Given the description of an element on the screen output the (x, y) to click on. 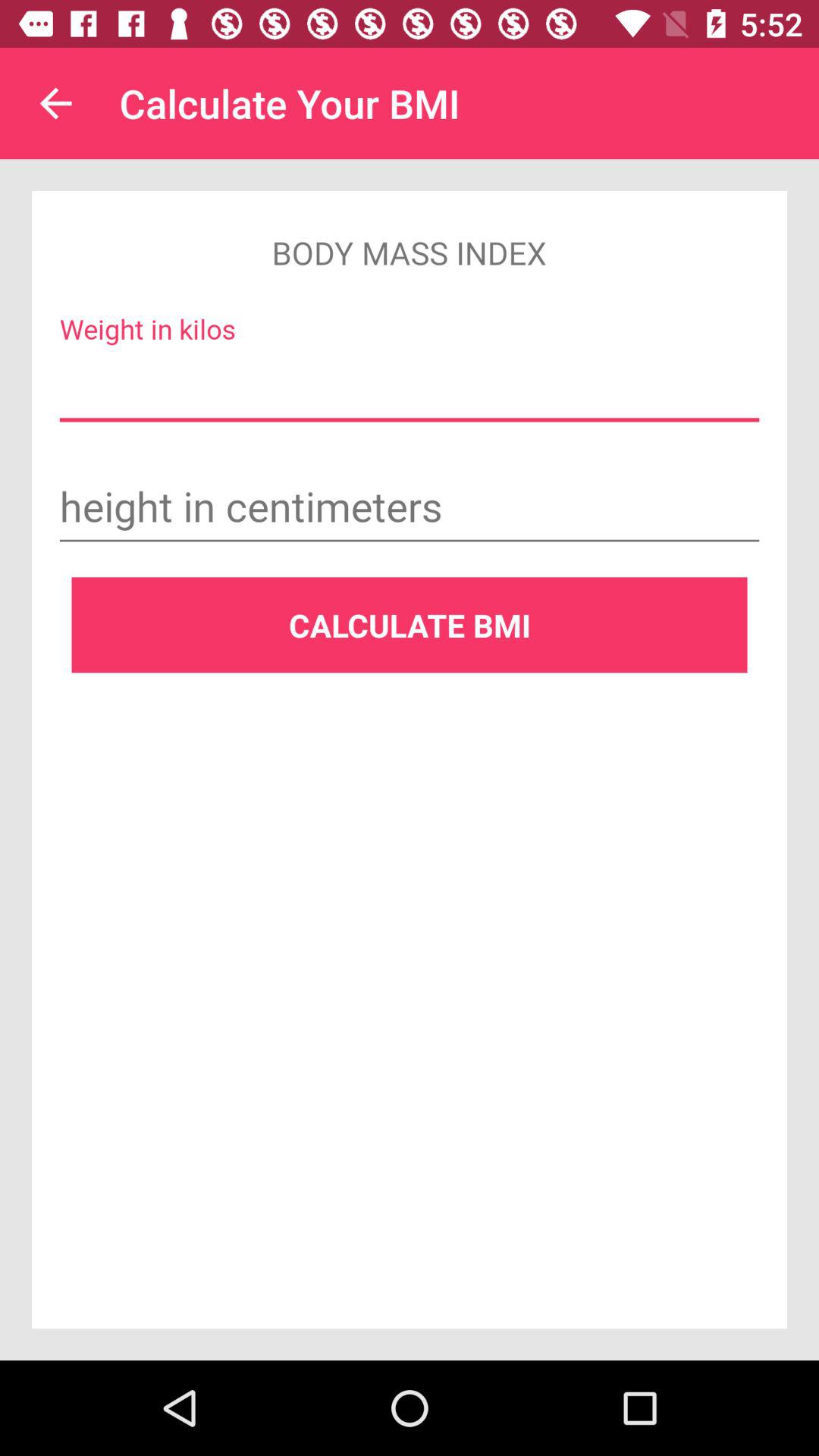
text box (409, 508)
